Given the description of an element on the screen output the (x, y) to click on. 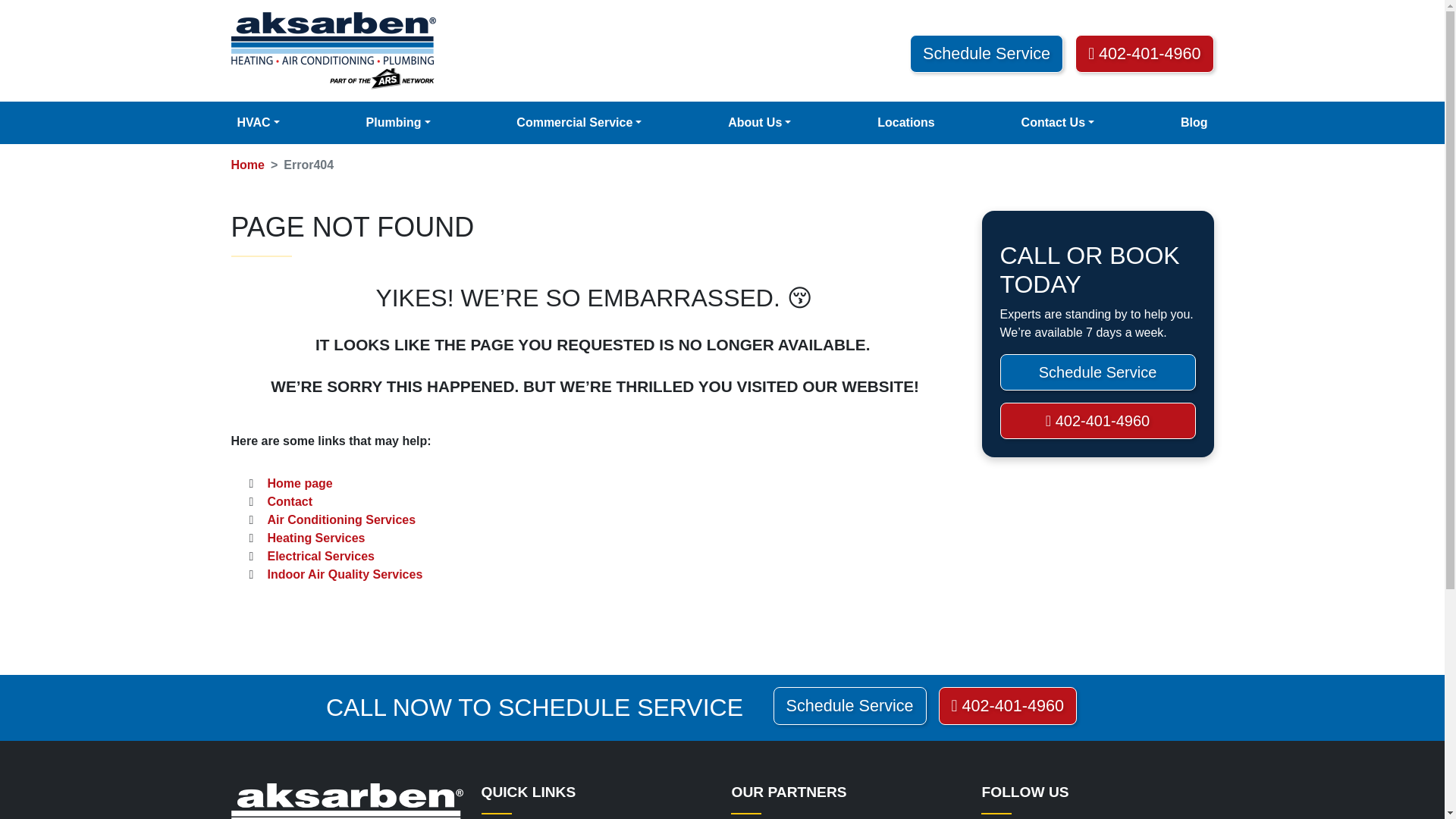
Plumbing (397, 122)
HVAC (257, 122)
Schedule Service (986, 53)
Contact Us (1057, 122)
 402-401-4960 (1143, 53)
Commercial Service (579, 122)
Locations (905, 122)
About Us (759, 122)
